Given the description of an element on the screen output the (x, y) to click on. 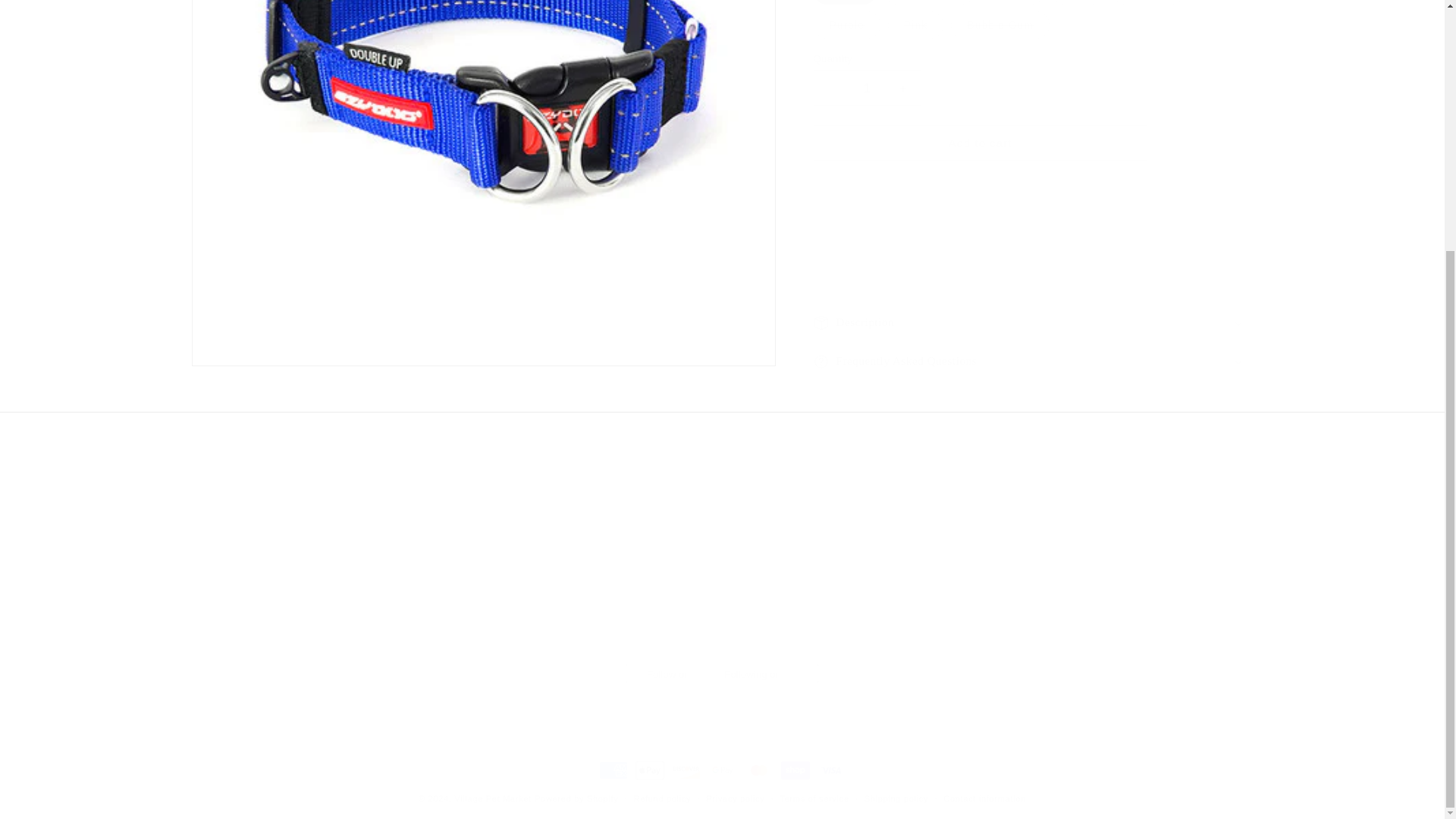
Pink (855, 563)
